Given the description of an element on the screen output the (x, y) to click on. 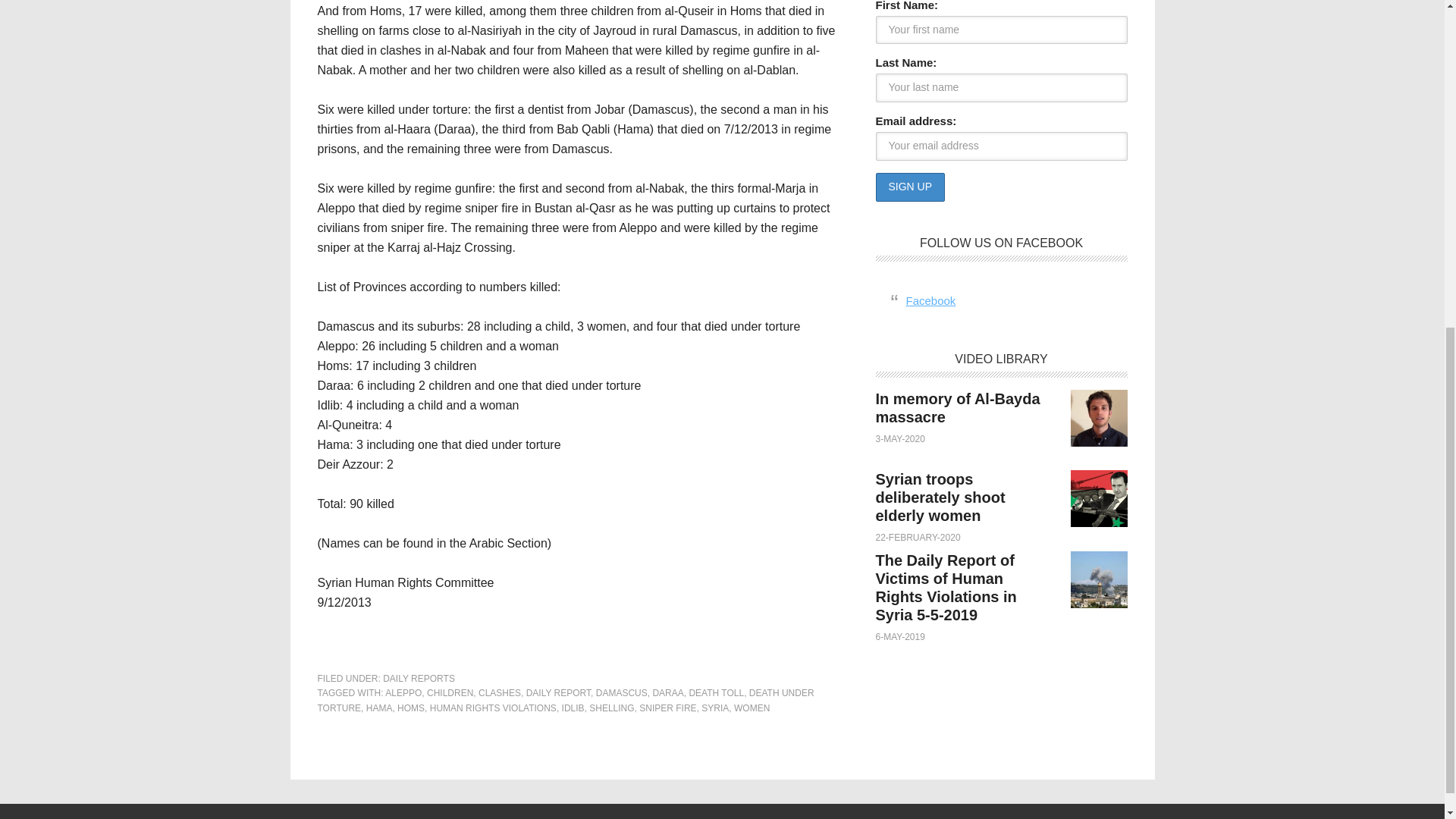
DARAA (667, 692)
DEATH TOLL (716, 692)
DAILY REPORT (558, 692)
SHELLING (611, 707)
CHILDREN (449, 692)
HOMS (411, 707)
CLASHES (500, 692)
DAMASCUS (621, 692)
IDLIB (573, 707)
HAMA (379, 707)
ALEPPO (403, 692)
DAILY REPORTS (418, 678)
DEATH UNDER TORTURE (565, 700)
HUMAN RIGHTS VIOLATIONS (492, 707)
Sign up (909, 186)
